Given the description of an element on the screen output the (x, y) to click on. 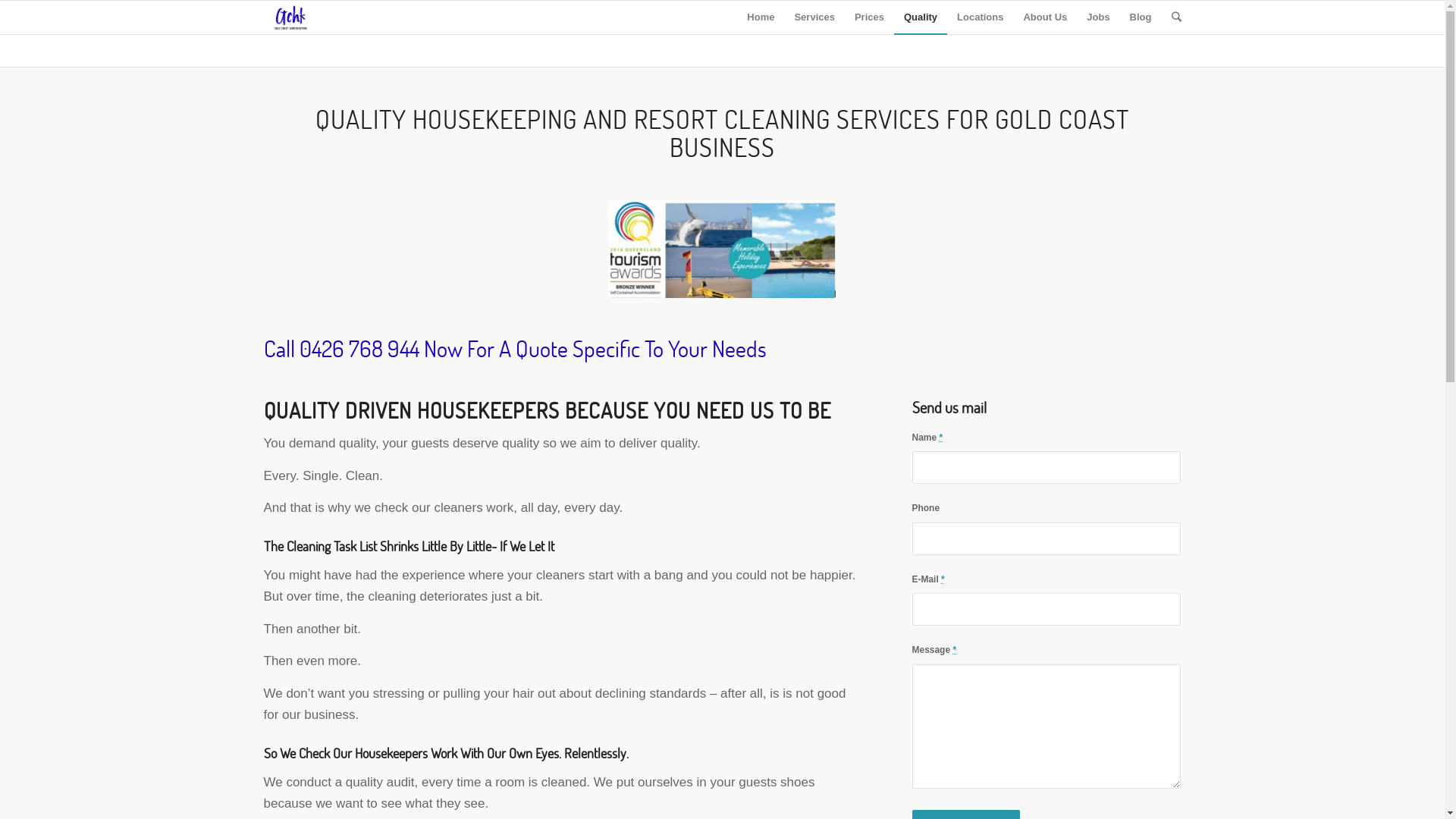
Dorchester_Award Element type: hover (721, 249)
Locations Element type: text (980, 17)
Quality Element type: text (920, 17)
Jobs Element type: text (1097, 17)
Home Element type: text (760, 17)
Blog Element type: text (1140, 17)
About Us Element type: text (1044, 17)
Prices Element type: text (869, 17)
Services Element type: text (814, 17)
